Given the description of an element on the screen output the (x, y) to click on. 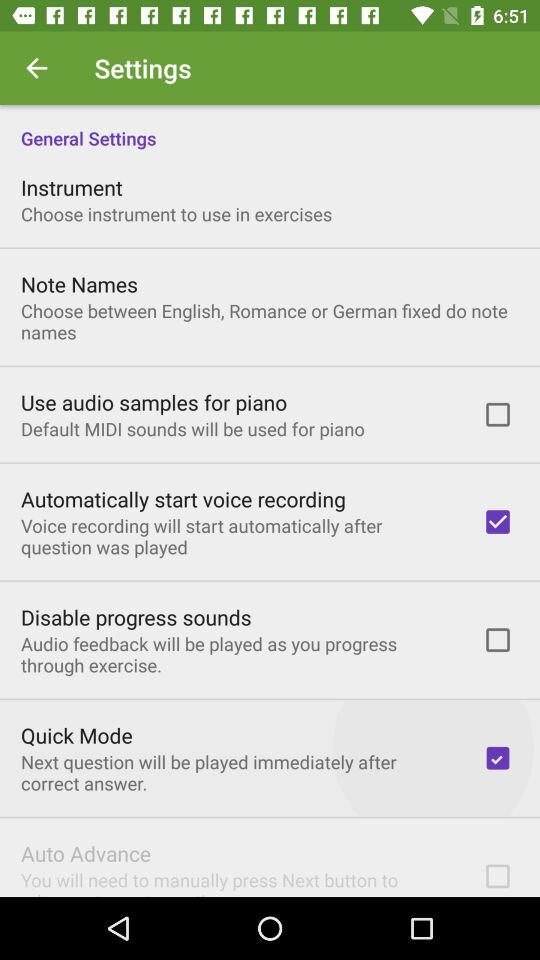
select the general settings (270, 127)
